Given the description of an element on the screen output the (x, y) to click on. 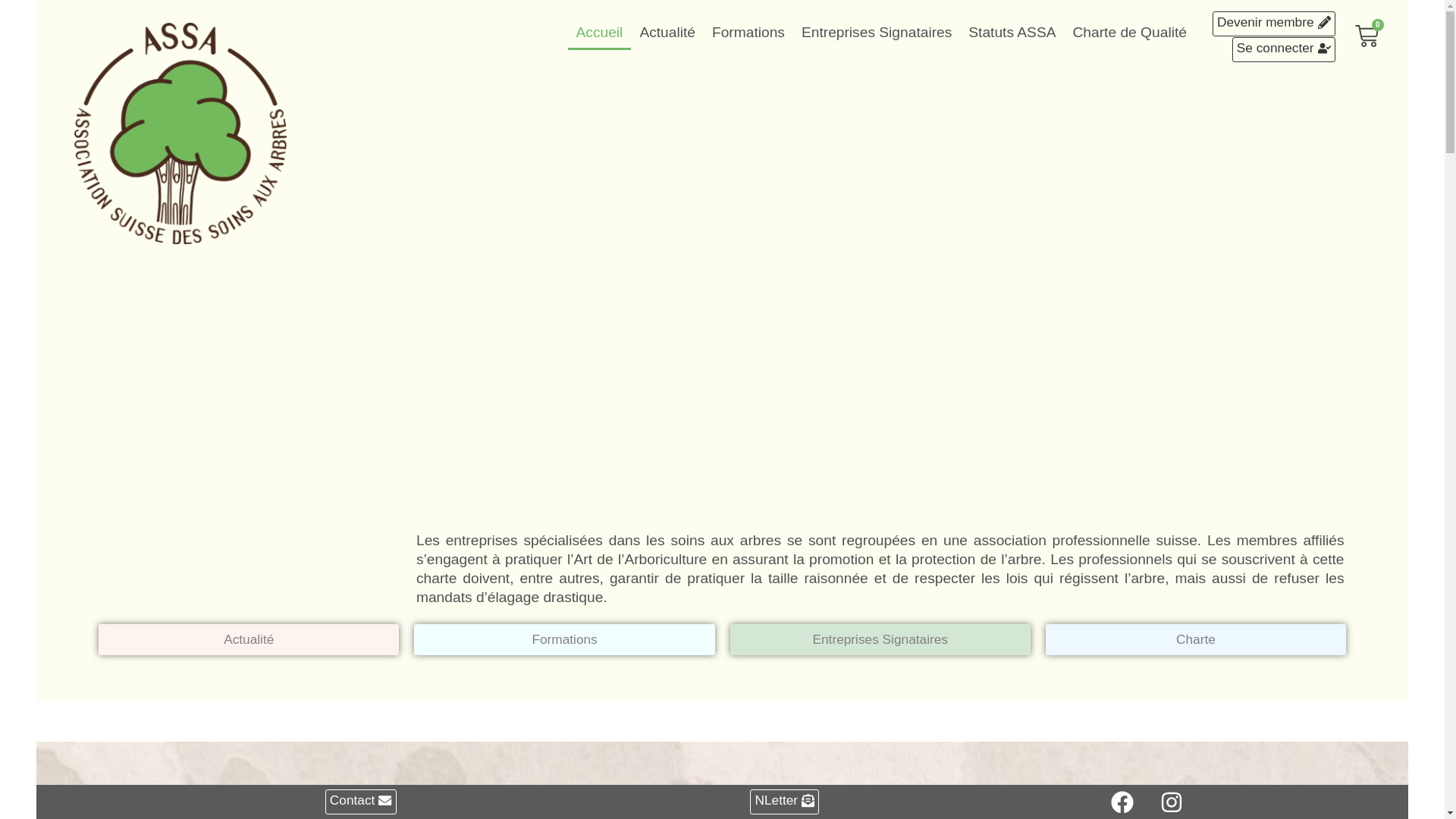
Entreprises Signataires Element type: text (880, 639)
Formations Element type: text (748, 32)
Contact Element type: text (360, 801)
0 Element type: text (1385, 37)
Statuts ASSA Element type: text (1011, 32)
Formations Element type: text (564, 639)
Entreprises Signataires Element type: text (876, 32)
NLetter Element type: text (784, 801)
Accueil Element type: text (599, 32)
Charte Element type: text (1195, 639)
Se connecter Element type: text (1283, 49)
Devenir membre Element type: text (1273, 23)
